Given the description of an element on the screen output the (x, y) to click on. 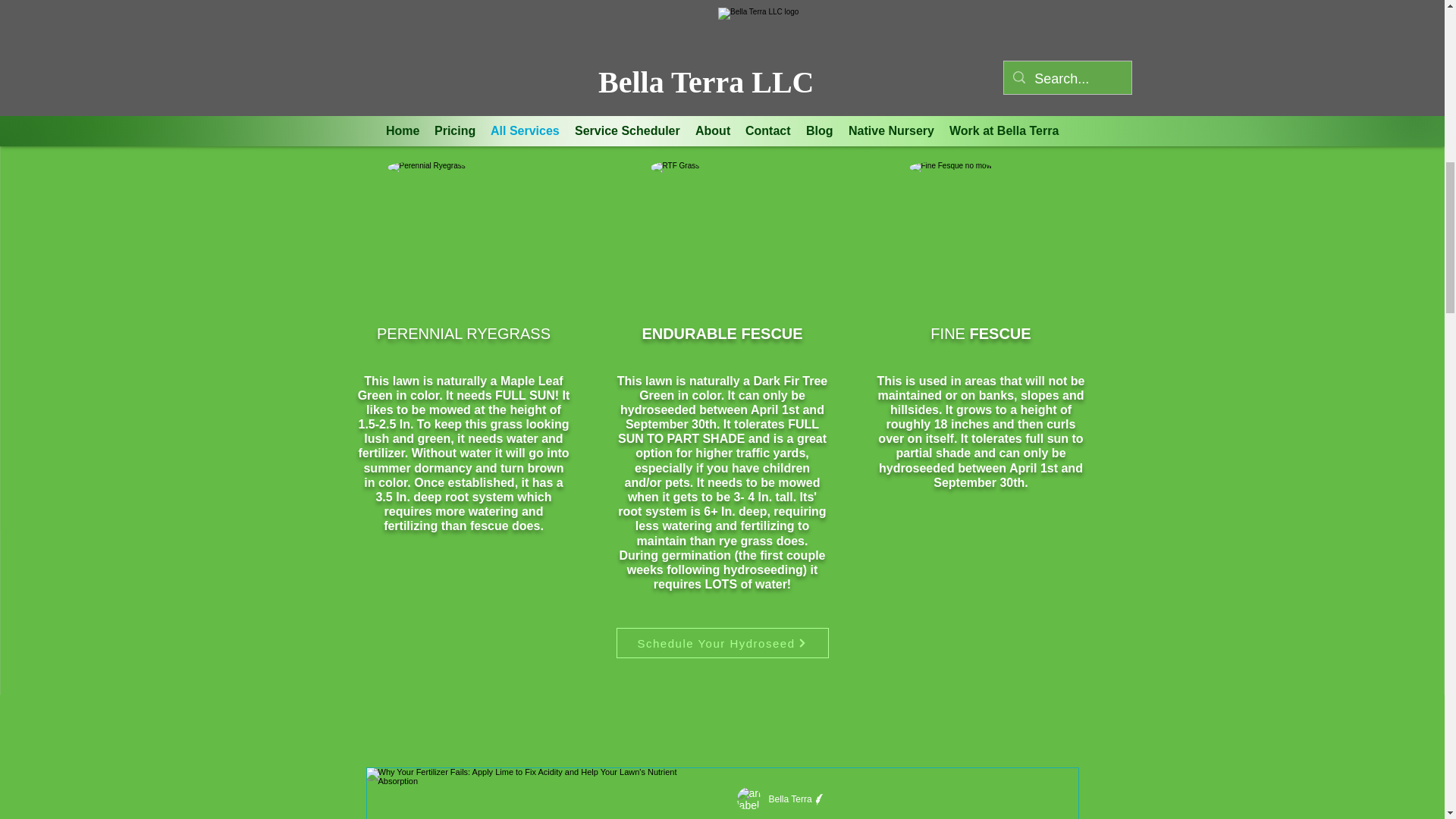
Schedule Your Hydroseed (721, 643)
Bella Terra (790, 798)
